Given the description of an element on the screen output the (x, y) to click on. 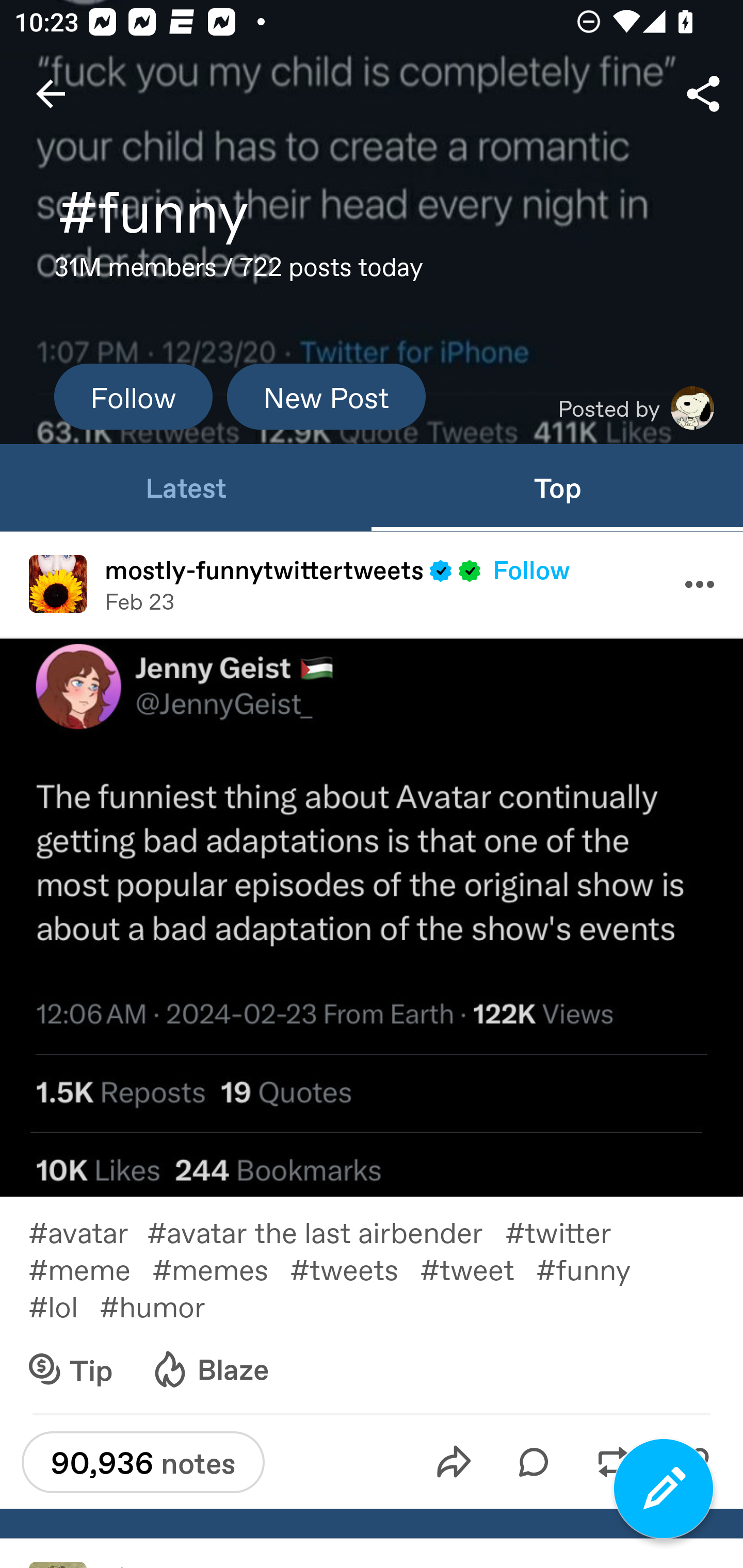
Navigate up (50, 93)
31M members /  722 posts today (238, 272)
Follow (133, 396)
New Post (326, 396)
Latest (185, 486)
Follow (530, 569)
#avatar (87, 1231)
#avatar the last airbender (326, 1231)
#twitter (569, 1231)
#meme (90, 1268)
#memes (220, 1268)
#tweets (354, 1268)
#tweet (477, 1268)
#funny (594, 1268)
#lol (63, 1305)
#humor (166, 1305)
Tip (71, 1369)
Blaze Blaze Blaze (209, 1369)
Share post to message (454, 1461)
Reply (533, 1461)
90,936 notes (142, 1461)
Compose a new post (663, 1488)
